Given the description of an element on the screen output the (x, y) to click on. 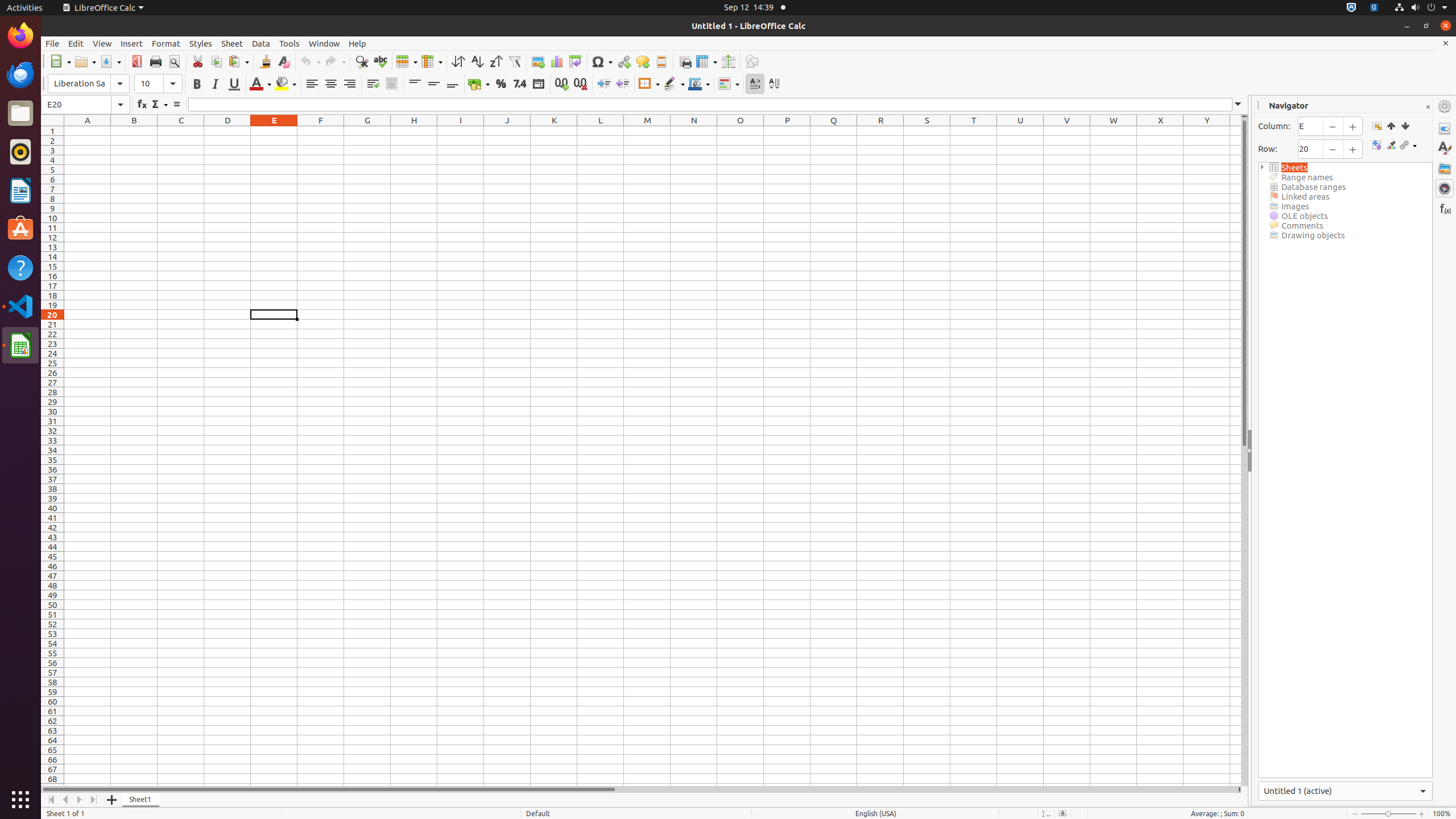
Move To End Element type: push-button (94, 799)
System Element type: menu (1420, 7)
Q1 Element type: table-cell (833, 130)
Vertical scroll bar Element type: scroll-bar (1244, 451)
AutoFilter Element type: push-button (514, 61)
